Given the description of an element on the screen output the (x, y) to click on. 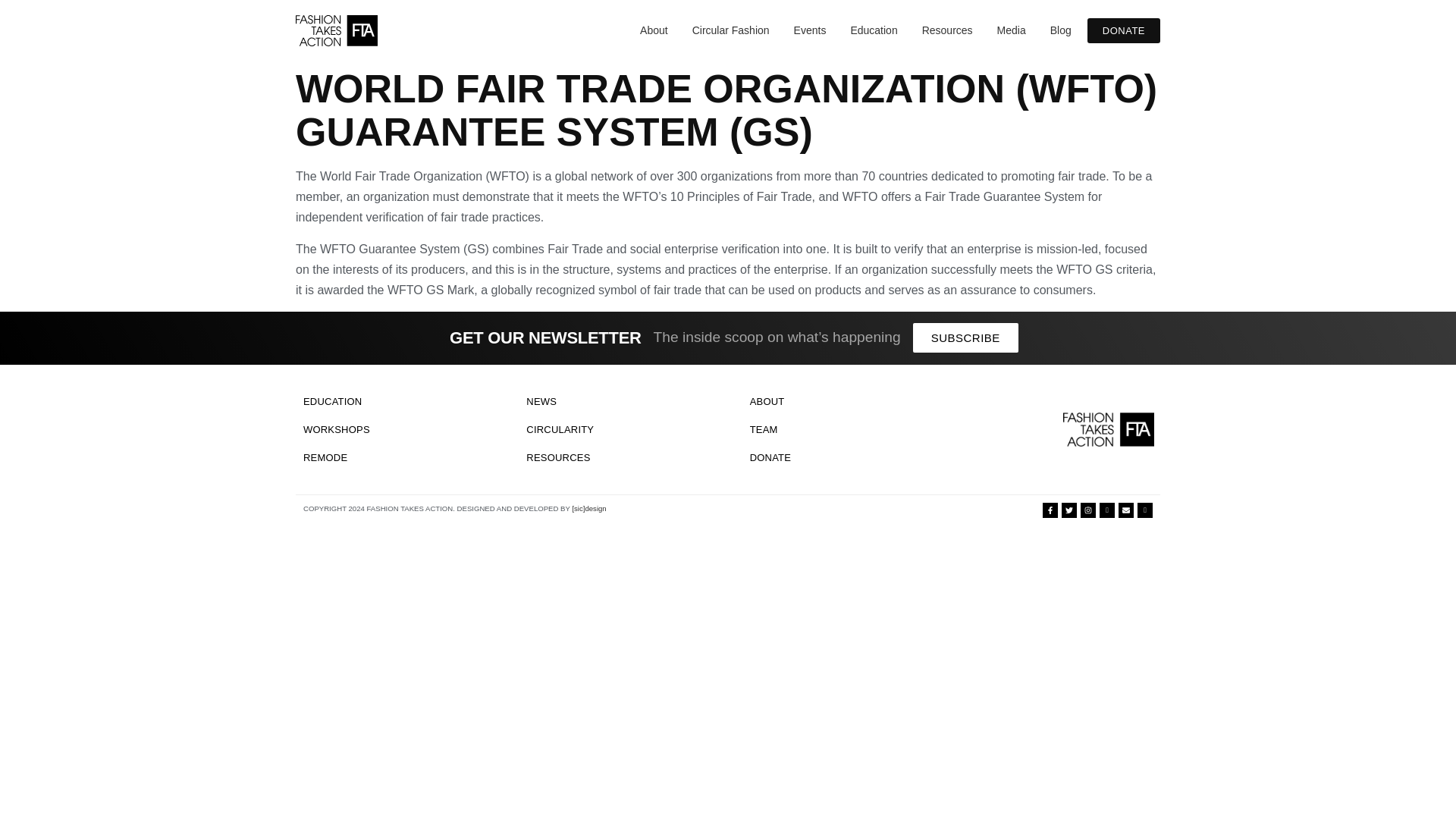
Circular Fashion (730, 30)
Resources (947, 30)
Education (873, 30)
About (653, 30)
Events (810, 30)
Media (1010, 30)
